Given the description of an element on the screen output the (x, y) to click on. 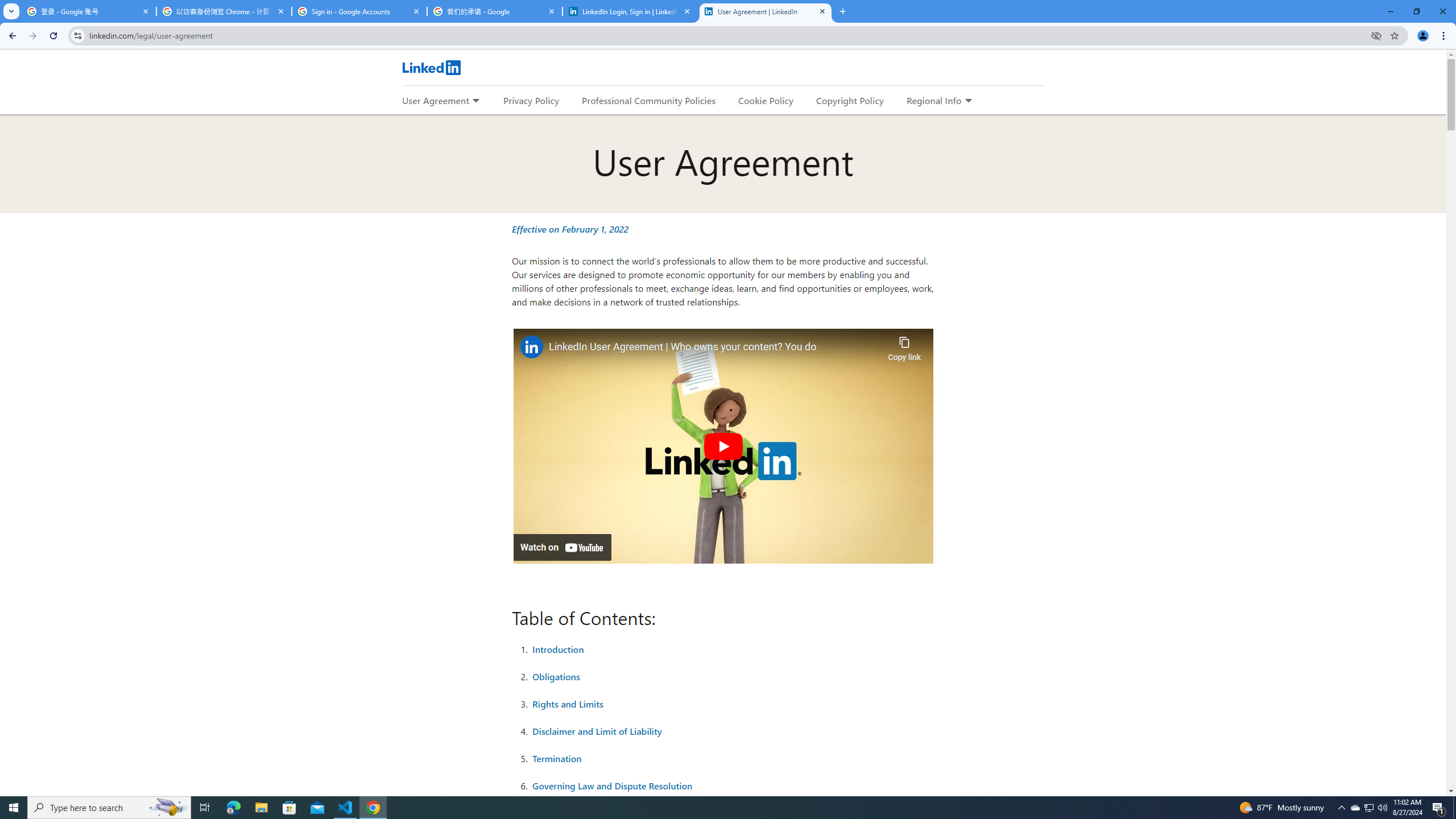
Obligations (555, 675)
LinkedIn Logo (430, 67)
Disclaimer and Limit of Liability (597, 730)
Sign in - Google Accounts (359, 11)
Regional Info (933, 100)
Effective on February 1, 2022 (570, 228)
Introduction (557, 648)
LinkedIn User Agreement | Who owns your content? You do (715, 347)
Play (722, 446)
